Given the description of an element on the screen output the (x, y) to click on. 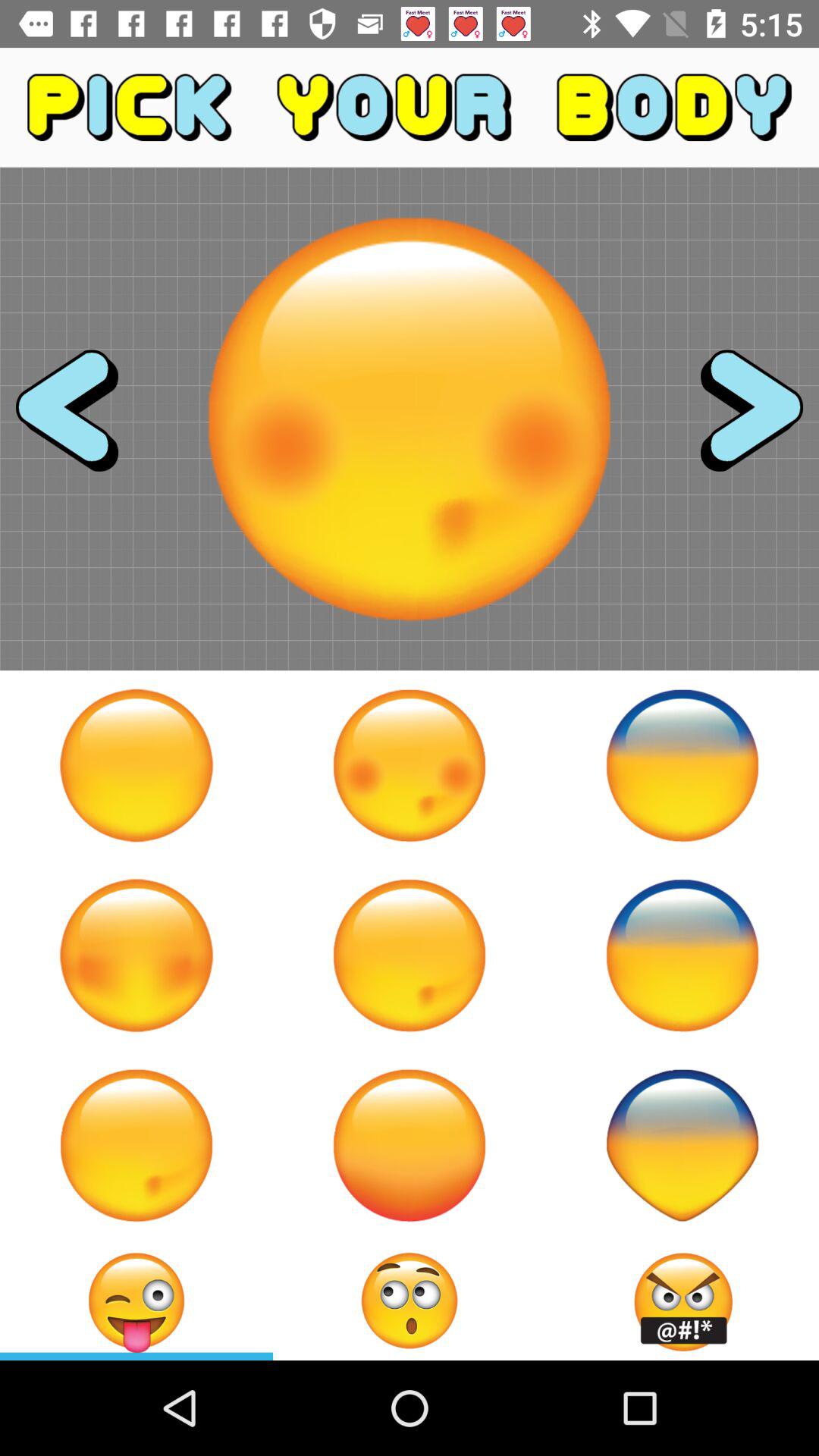
change face (409, 955)
